Given the description of an element on the screen output the (x, y) to click on. 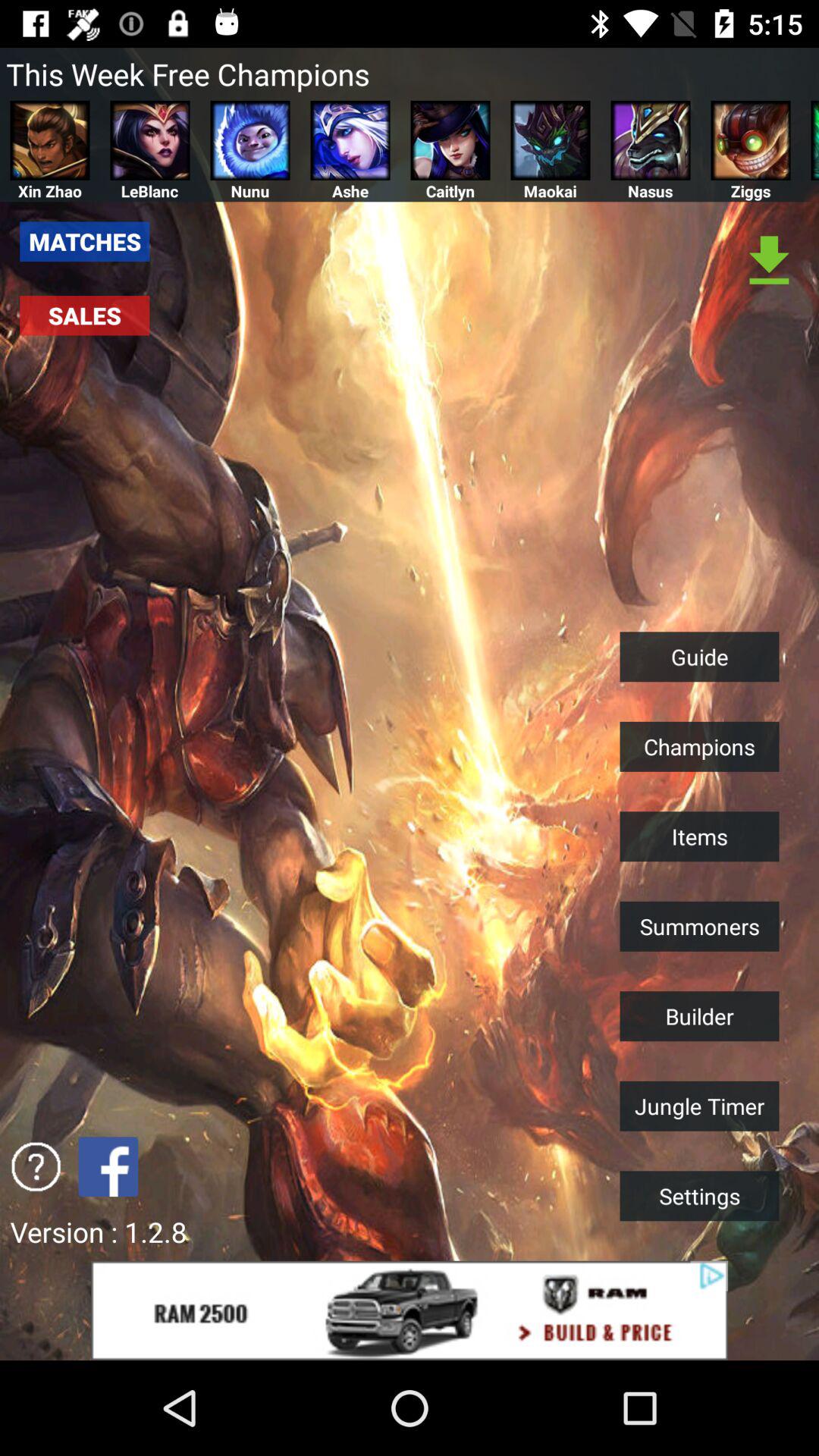
download content (769, 261)
